Given the description of an element on the screen output the (x, y) to click on. 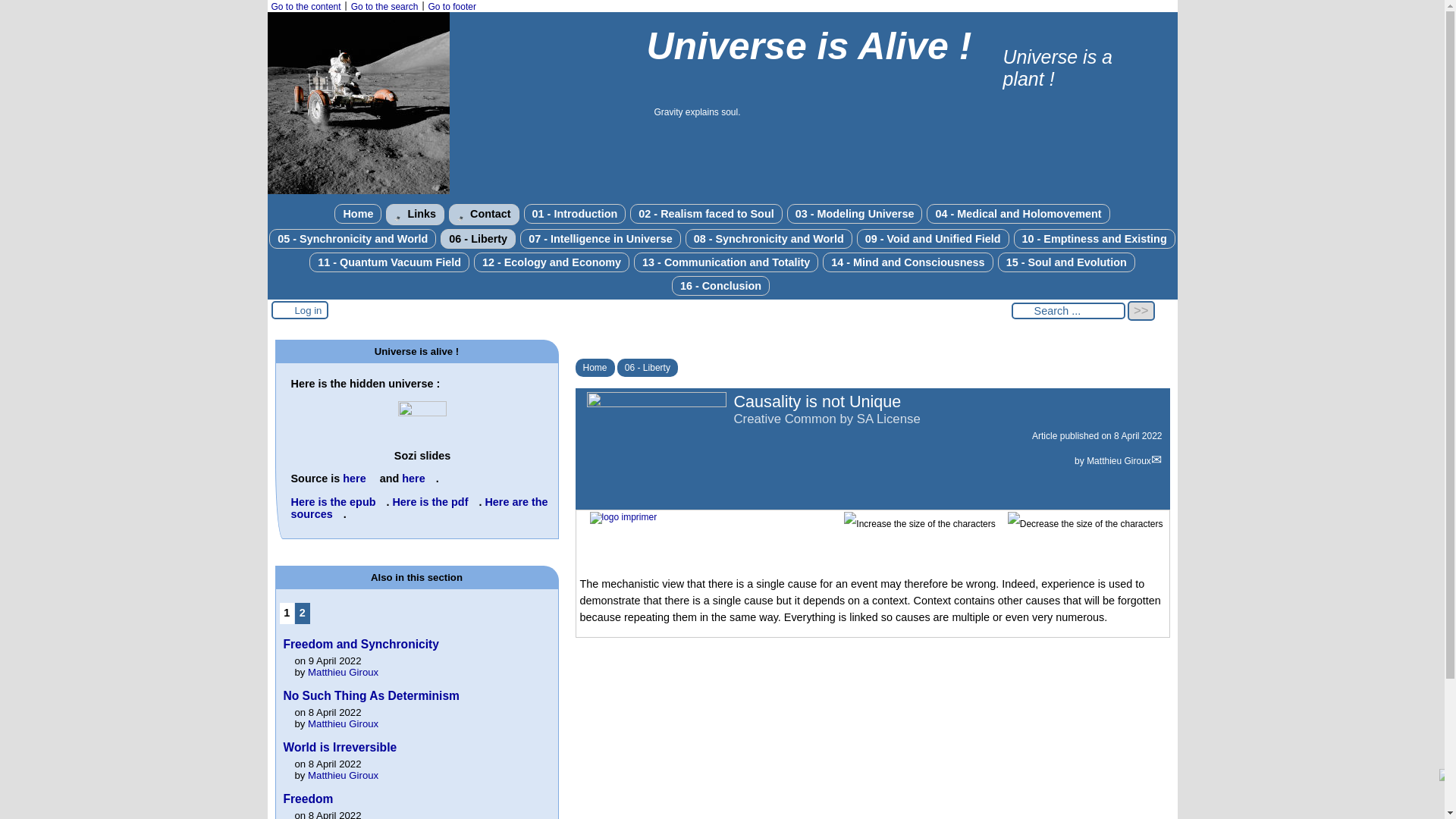
Links (414, 214)
Go to footer (452, 6)
Home (357, 213)
Home (357, 213)
Home (357, 190)
Go to the content (305, 6)
Go to the search (384, 6)
